Given the description of an element on the screen output the (x, y) to click on. 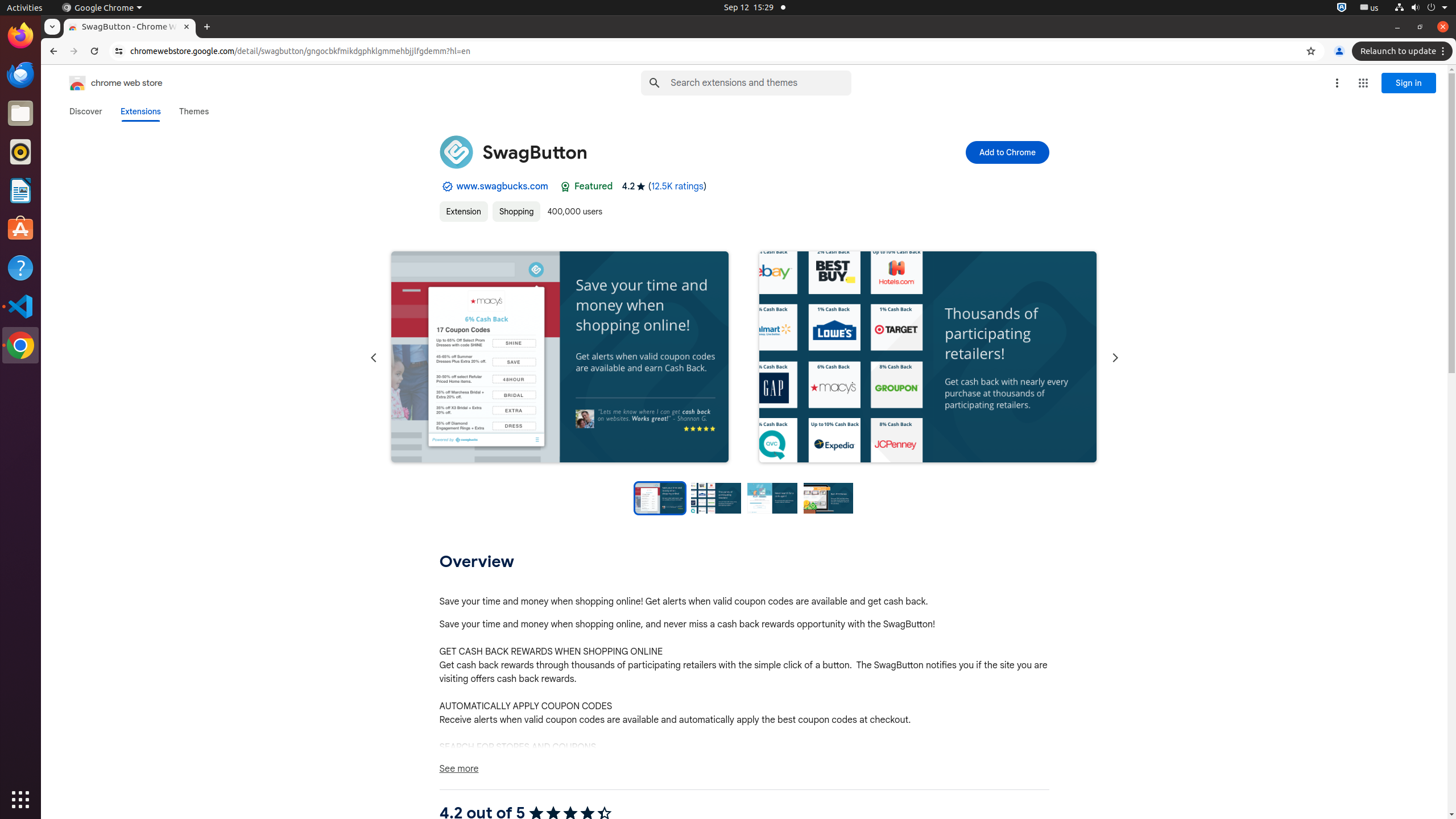
Google Chrome Element type: push-button (20, 344)
Shopping Element type: link (515, 211)
Reload Element type: push-button (94, 50)
Google Chrome Element type: menu (101, 7)
See more Element type: push-button (744, 768)
